Given the description of an element on the screen output the (x, y) to click on. 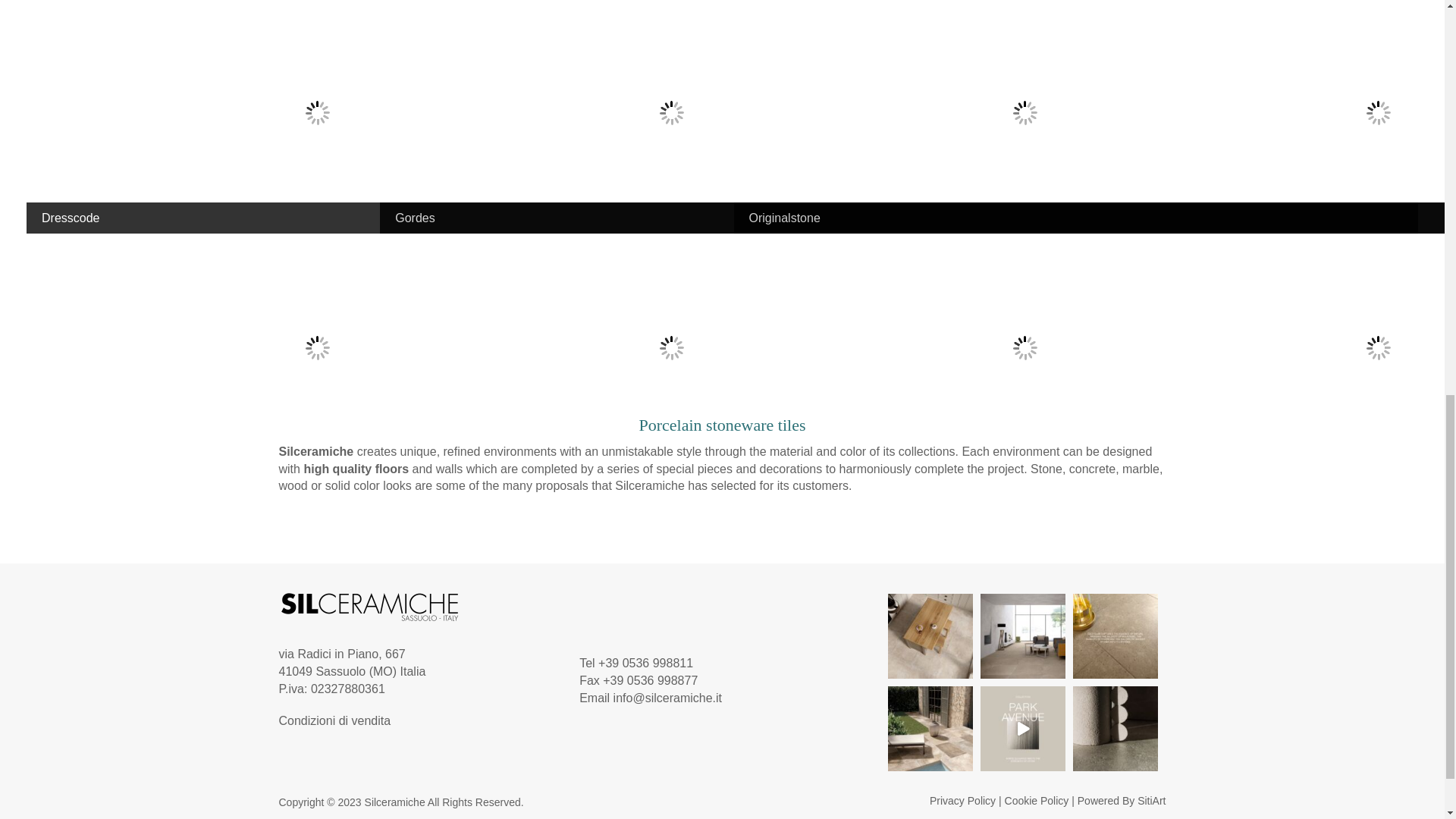
SILCERAMICHE (370, 606)
